Given the description of an element on the screen output the (x, y) to click on. 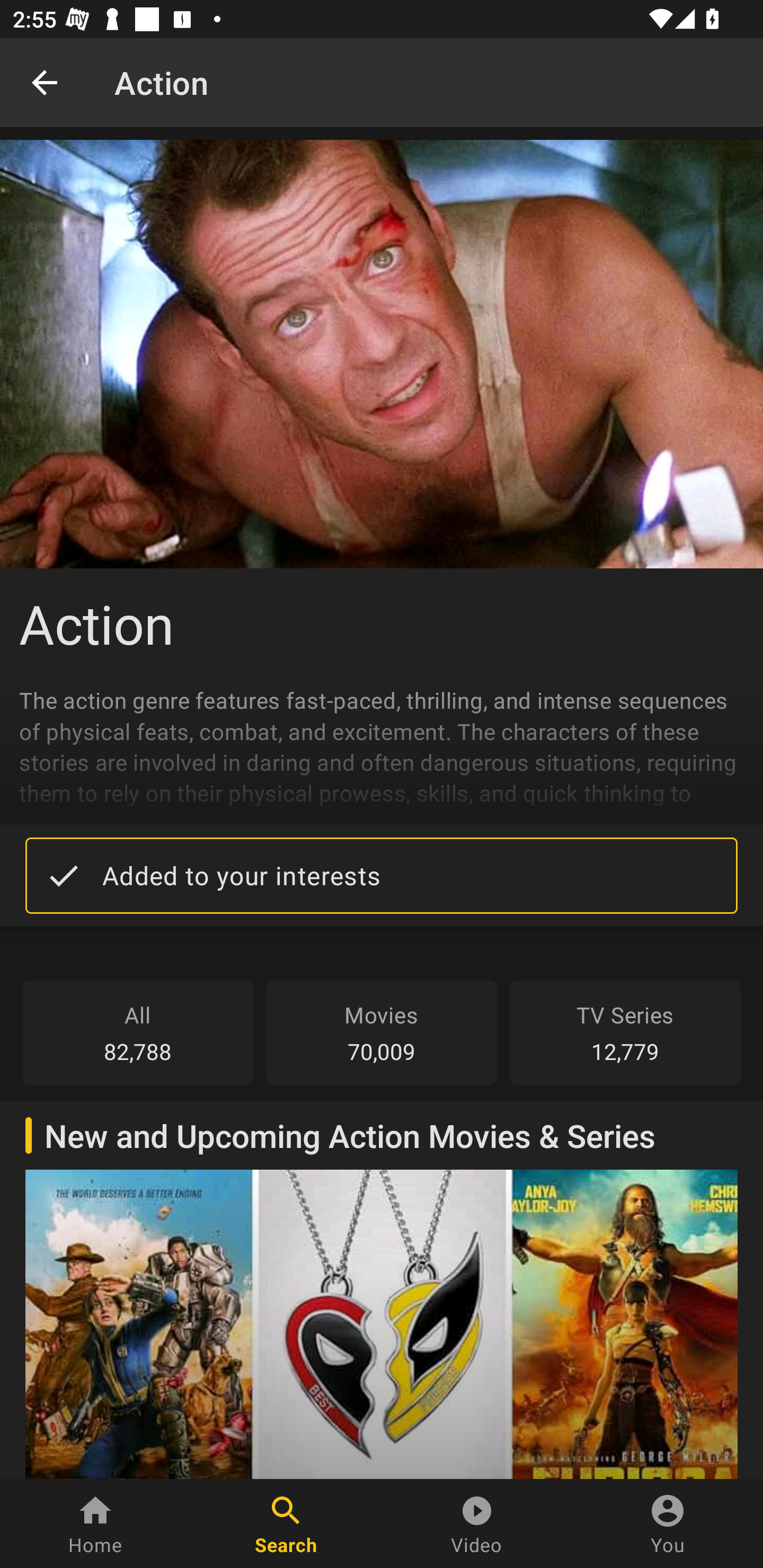
Added to your interests (381, 875)
All 82,788 (137, 1032)
Movies 70,009 (381, 1032)
TV Series 12,779 (624, 1032)
New and Upcoming Action Movies & Series (381, 1289)
Home (95, 1523)
Video (476, 1523)
You (667, 1523)
